Given the description of an element on the screen output the (x, y) to click on. 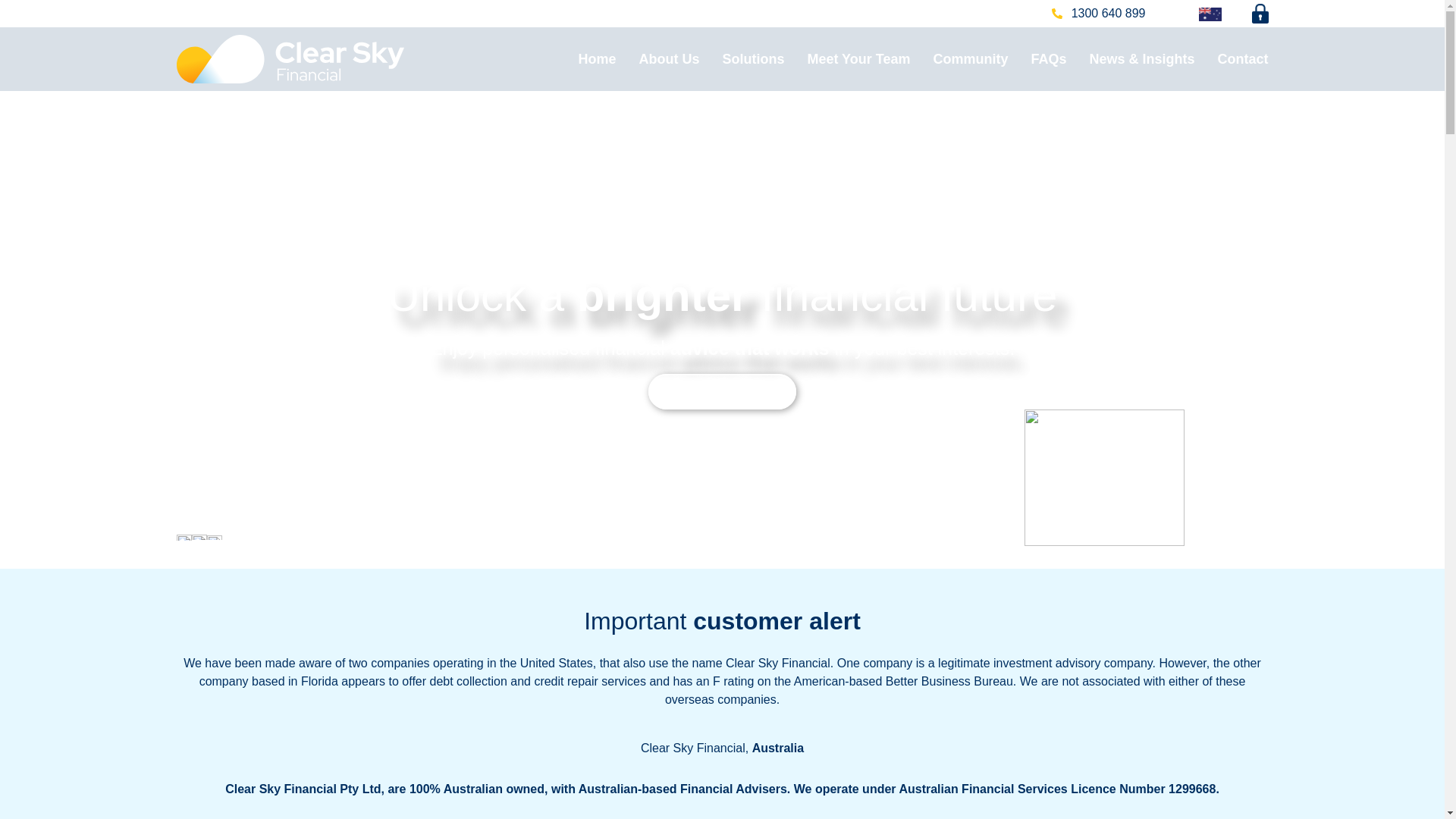
1300 640 899 (1097, 13)
FAQs (1036, 58)
Solutions (741, 58)
Meet Your Team (847, 58)
Contact (1231, 58)
FIND OUT HOW (721, 391)
Community (958, 58)
About Us (656, 58)
Home (584, 58)
